Given the description of an element on the screen output the (x, y) to click on. 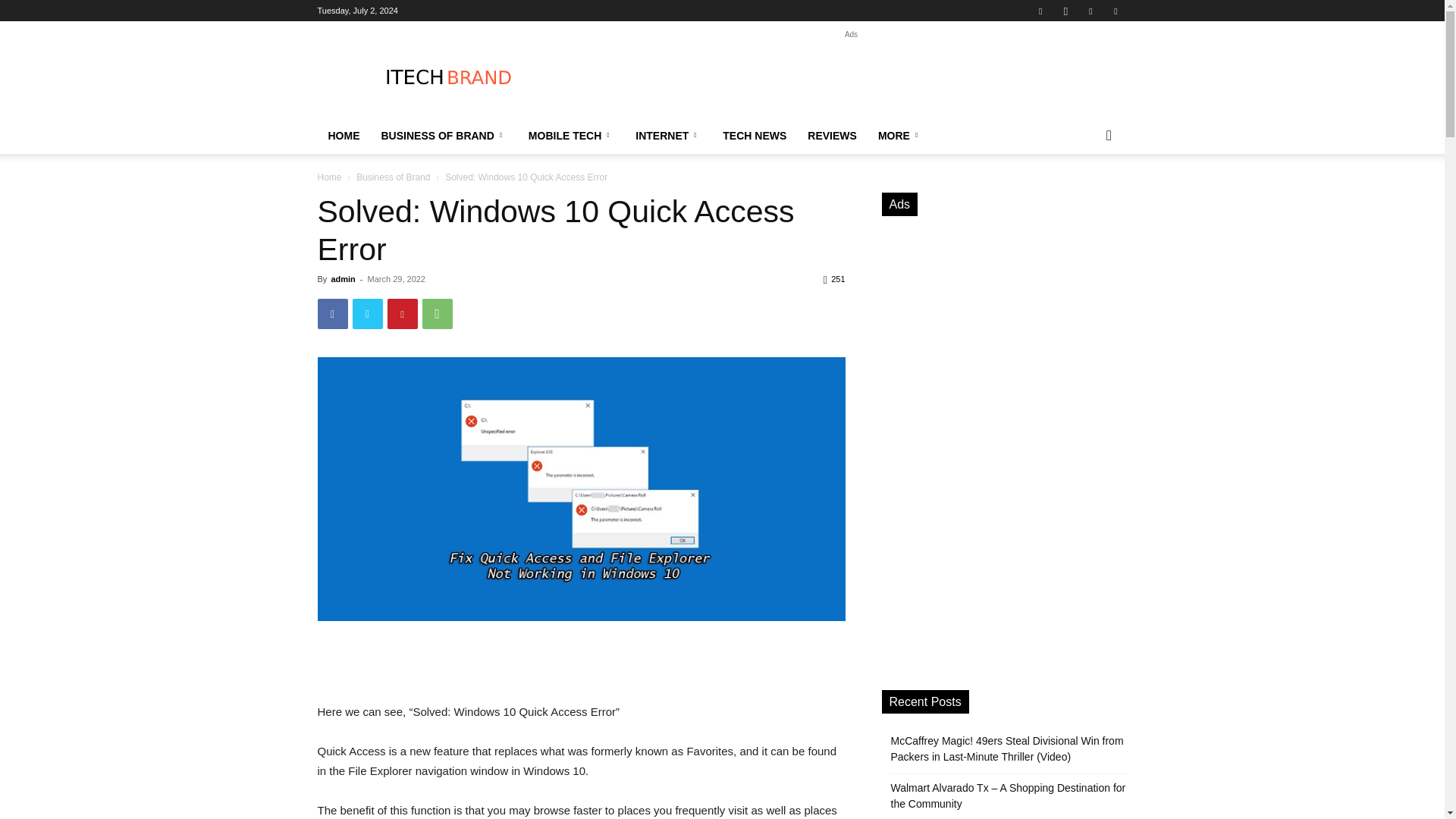
Twitter (1114, 10)
Facebook (332, 313)
Instagram (1065, 10)
Advertisement (850, 76)
Pinterest (401, 313)
Pinterest (1090, 10)
Facebook (1040, 10)
Twitter (366, 313)
WhatsApp (436, 313)
View all posts in Business of Brand (392, 176)
